Given the description of an element on the screen output the (x, y) to click on. 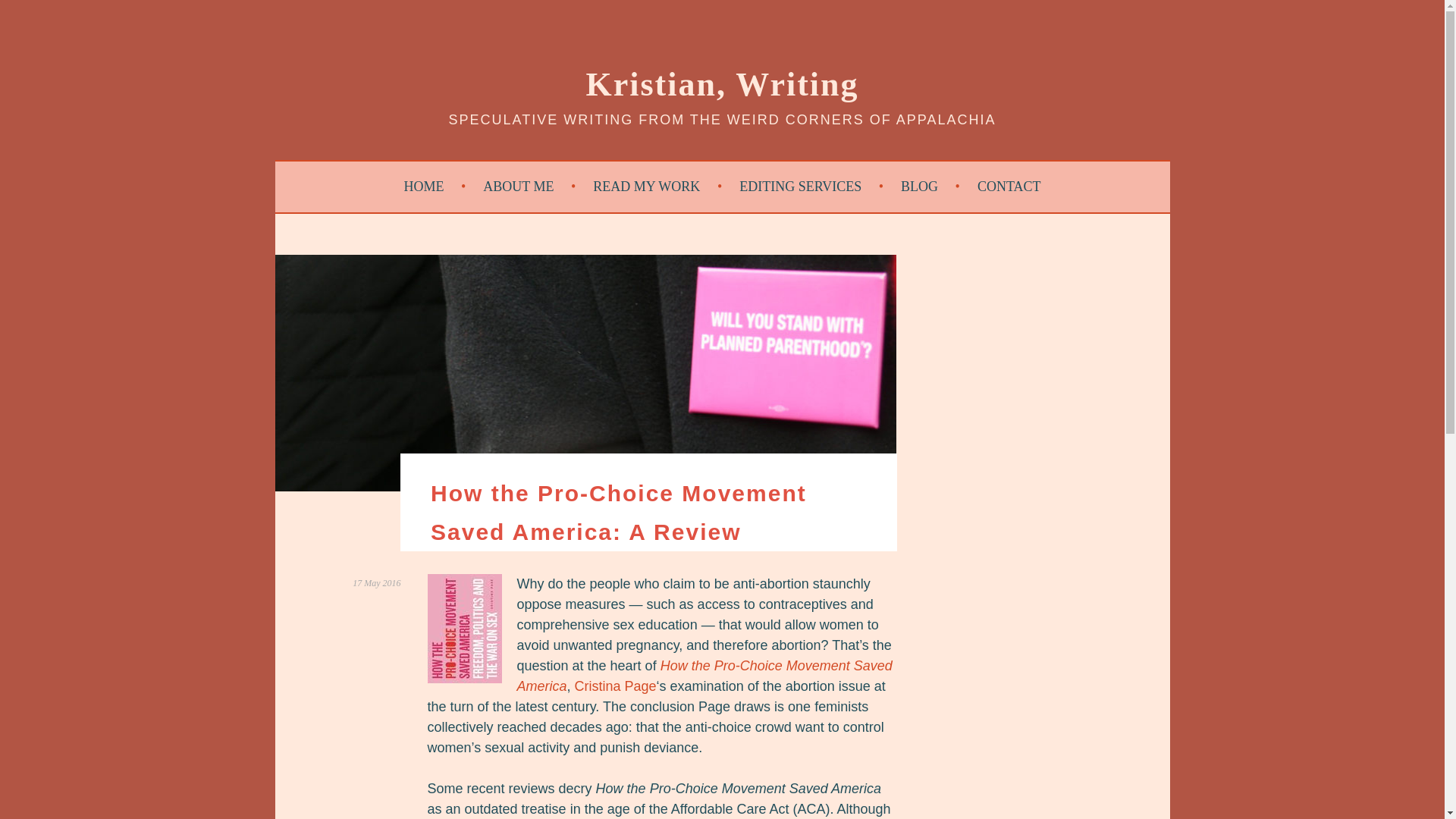
EDITING SERVICES (811, 187)
BLOG (930, 187)
Cristina Page (615, 685)
How the Pro-Choice Movement Saved America (704, 675)
HOME (434, 187)
ABOUT ME (529, 187)
17 May 2016 (376, 583)
Kristian, Writing (722, 84)
CONTACT (1008, 187)
